Given the description of an element on the screen output the (x, y) to click on. 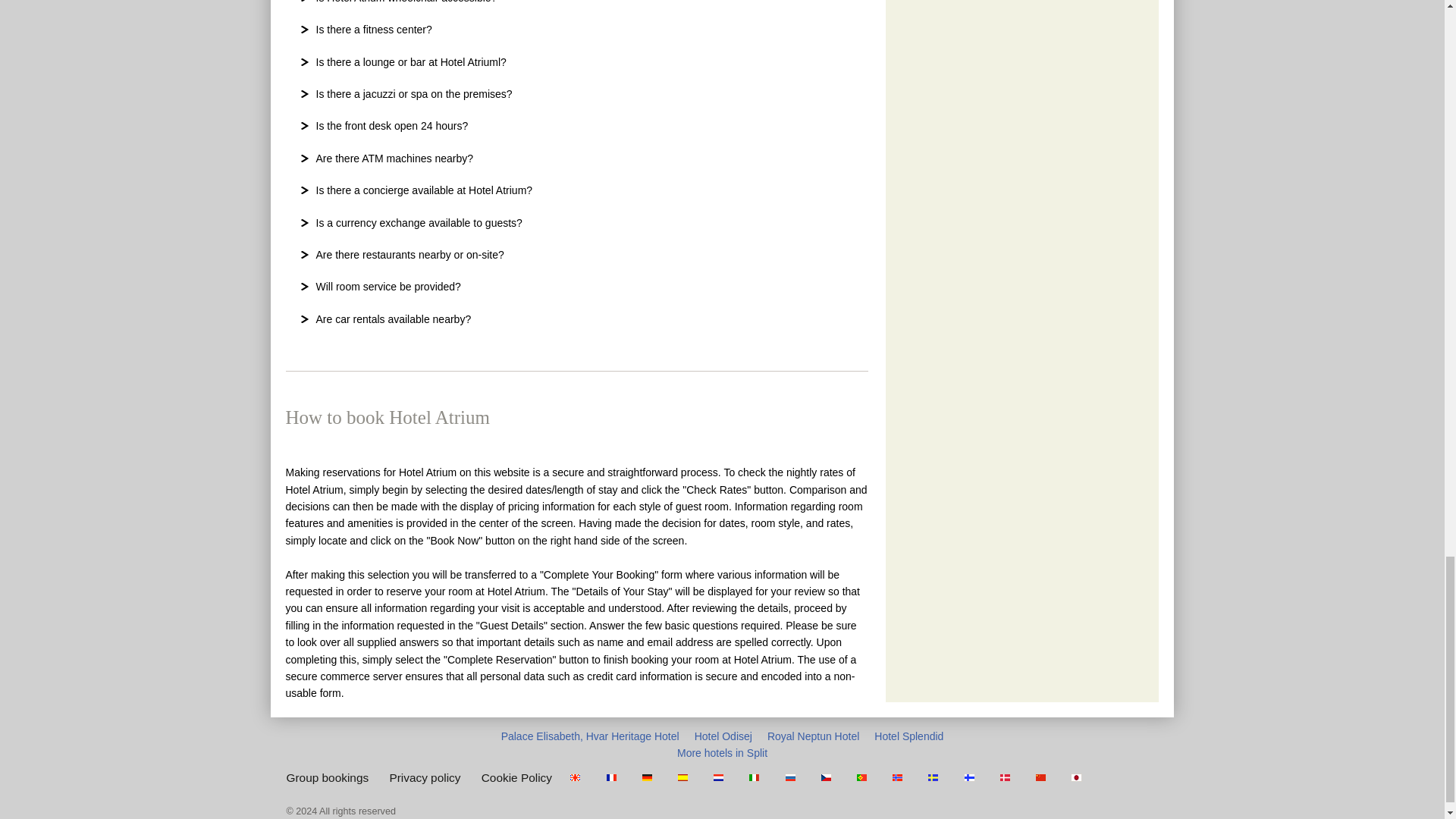
More hotels in Split (722, 752)
Palace Elisabeth, Hvar Heritage Hotel (589, 736)
Royal Neptun Hotel (813, 736)
Hotel Splendid (909, 736)
Privacy policy (424, 777)
Hotel Odisej (723, 736)
Group bookings (327, 777)
Cookie Policy (516, 777)
